Given the description of an element on the screen output the (x, y) to click on. 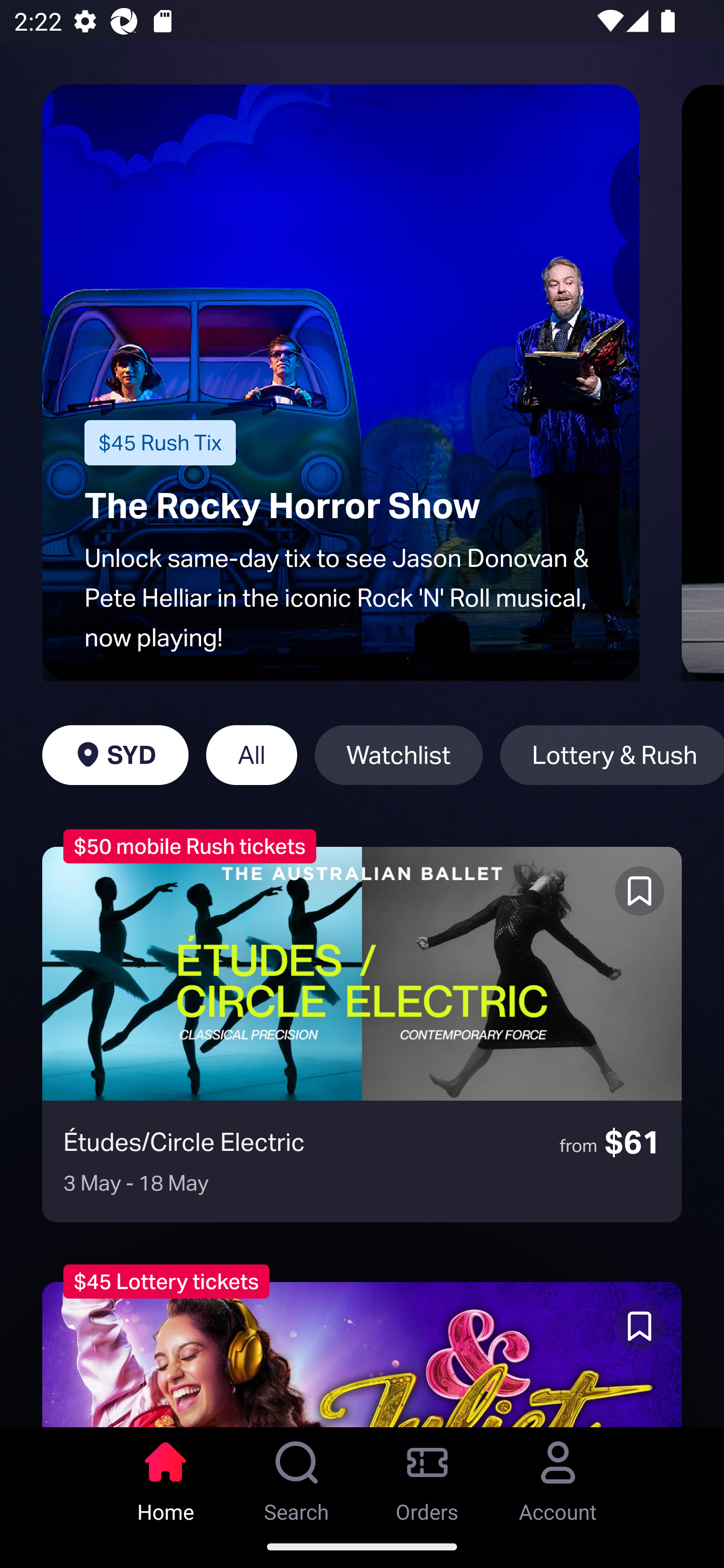
SYD (114, 754)
All (251, 754)
Watchlist (398, 754)
Lottery & Rush (612, 754)
Études/Circle Electric from $61 3 May - 18 May (361, 1033)
Search (296, 1475)
Orders (427, 1475)
Account (558, 1475)
